Given the description of an element on the screen output the (x, y) to click on. 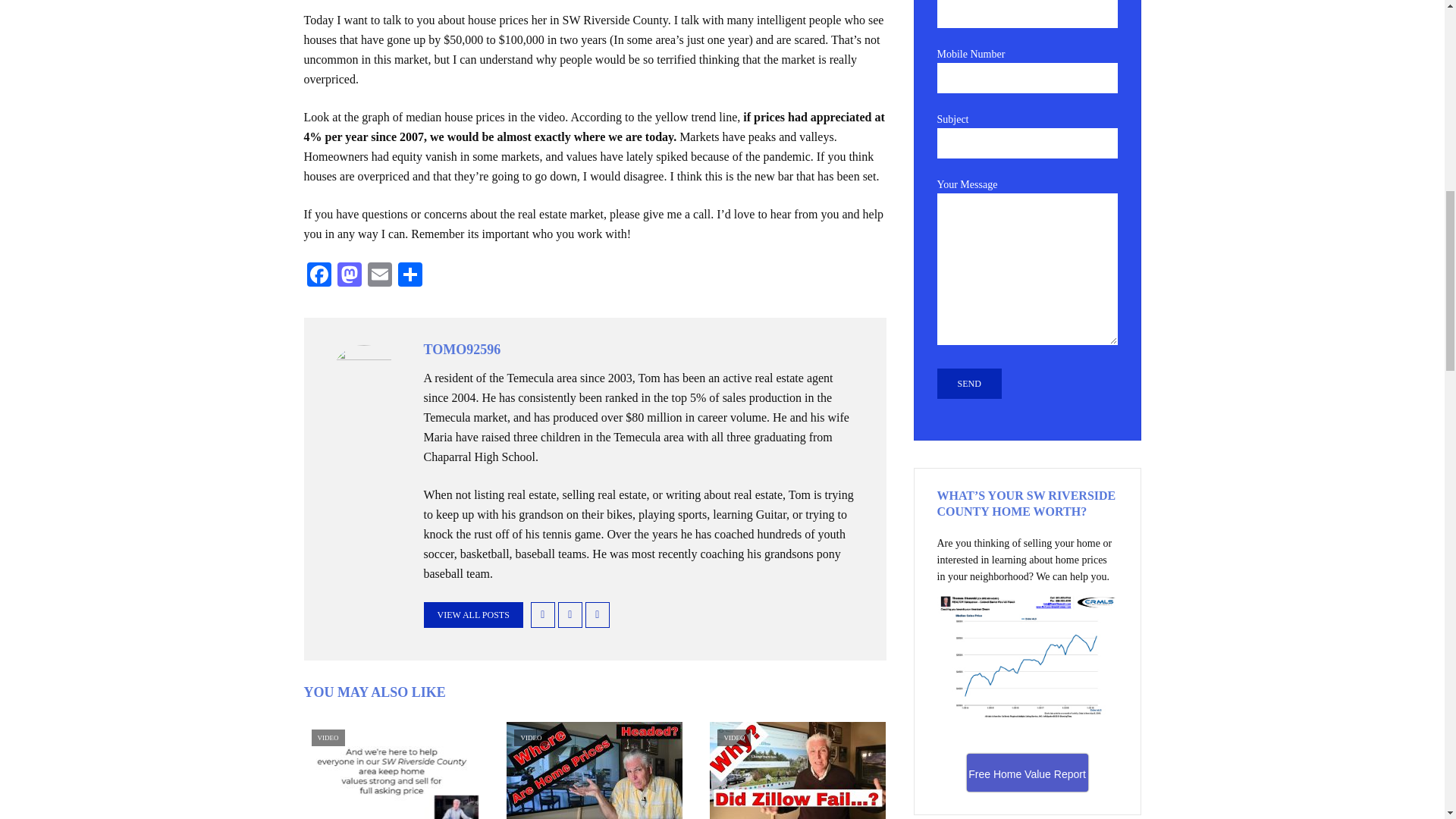
Most Sellers Forget About This! (390, 770)
Send (969, 383)
Facebook (317, 276)
Why Did Zillow Fail? (797, 770)
Mastodon (348, 276)
Where are Home Prices Headed (594, 770)
Email (379, 276)
